Given the description of an element on the screen output the (x, y) to click on. 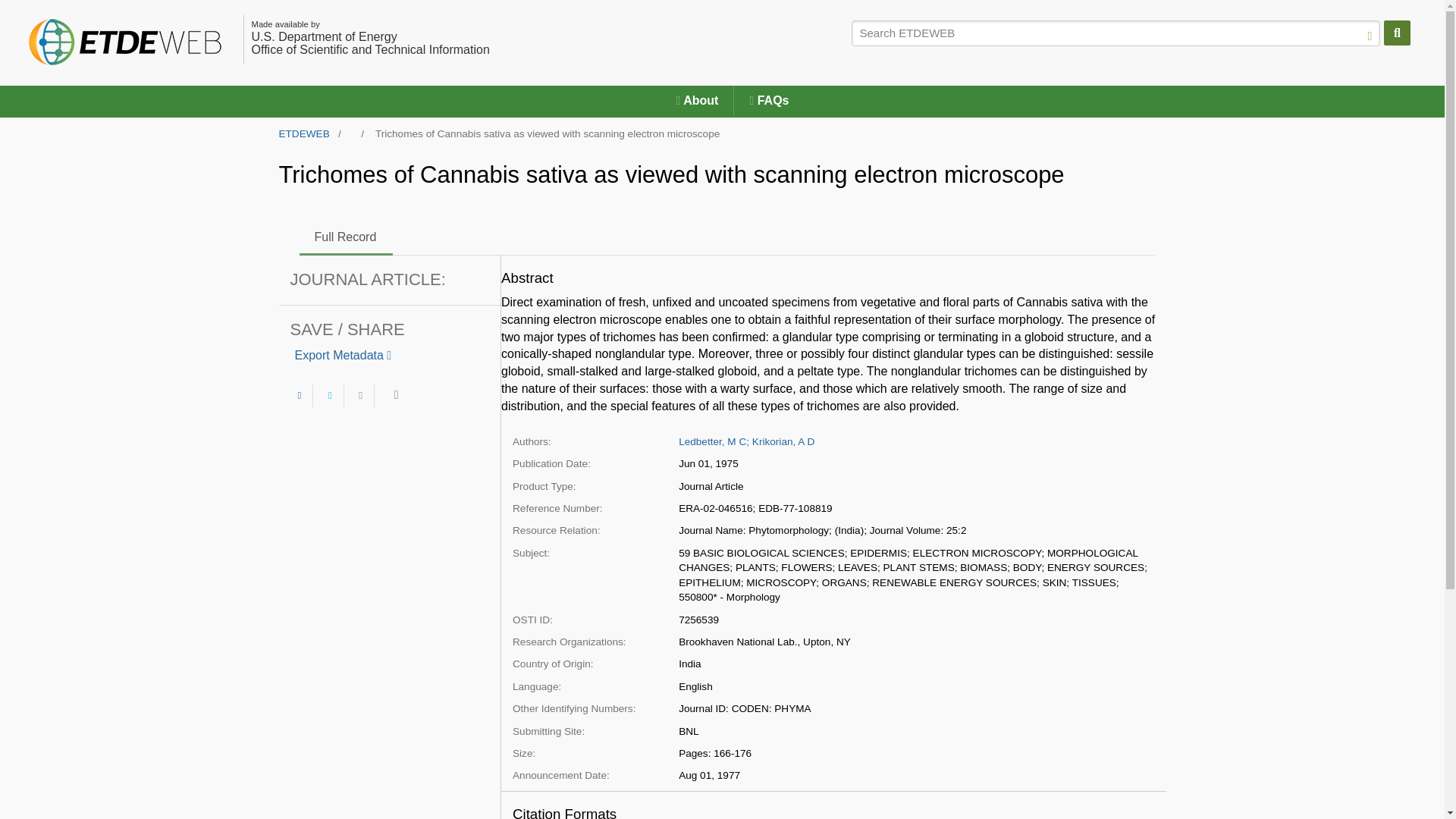
Ledbetter, M C; (713, 441)
Krikorian, A D (782, 441)
 About (697, 100)
Export Metadata (342, 355)
ETDEWEB (304, 133)
Full Record (345, 237)
All Fields Search (1115, 32)
 FAQs (768, 100)
